Given the description of an element on the screen output the (x, y) to click on. 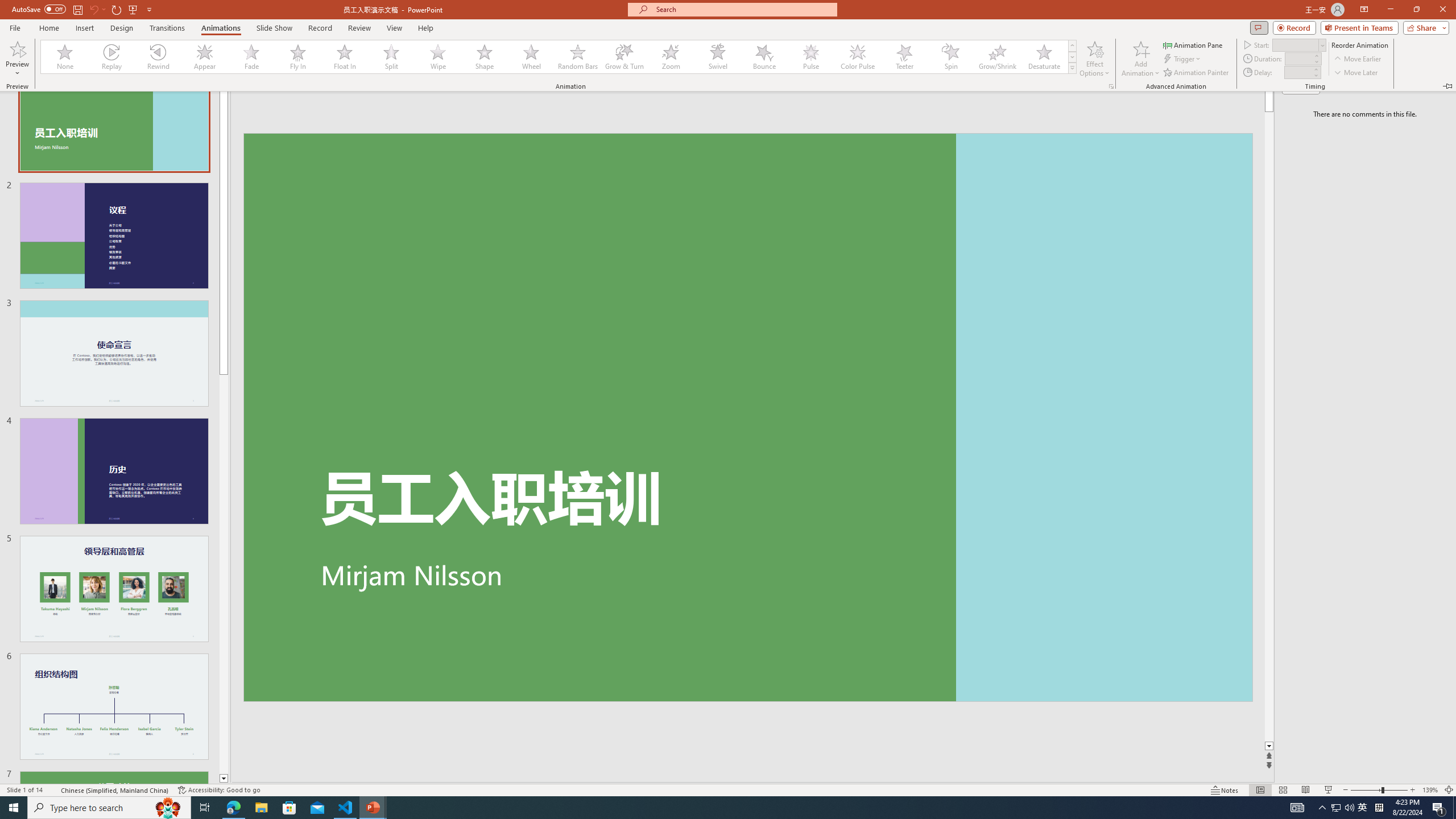
Zoom 139% (1430, 790)
